Given the description of an element on the screen output the (x, y) to click on. 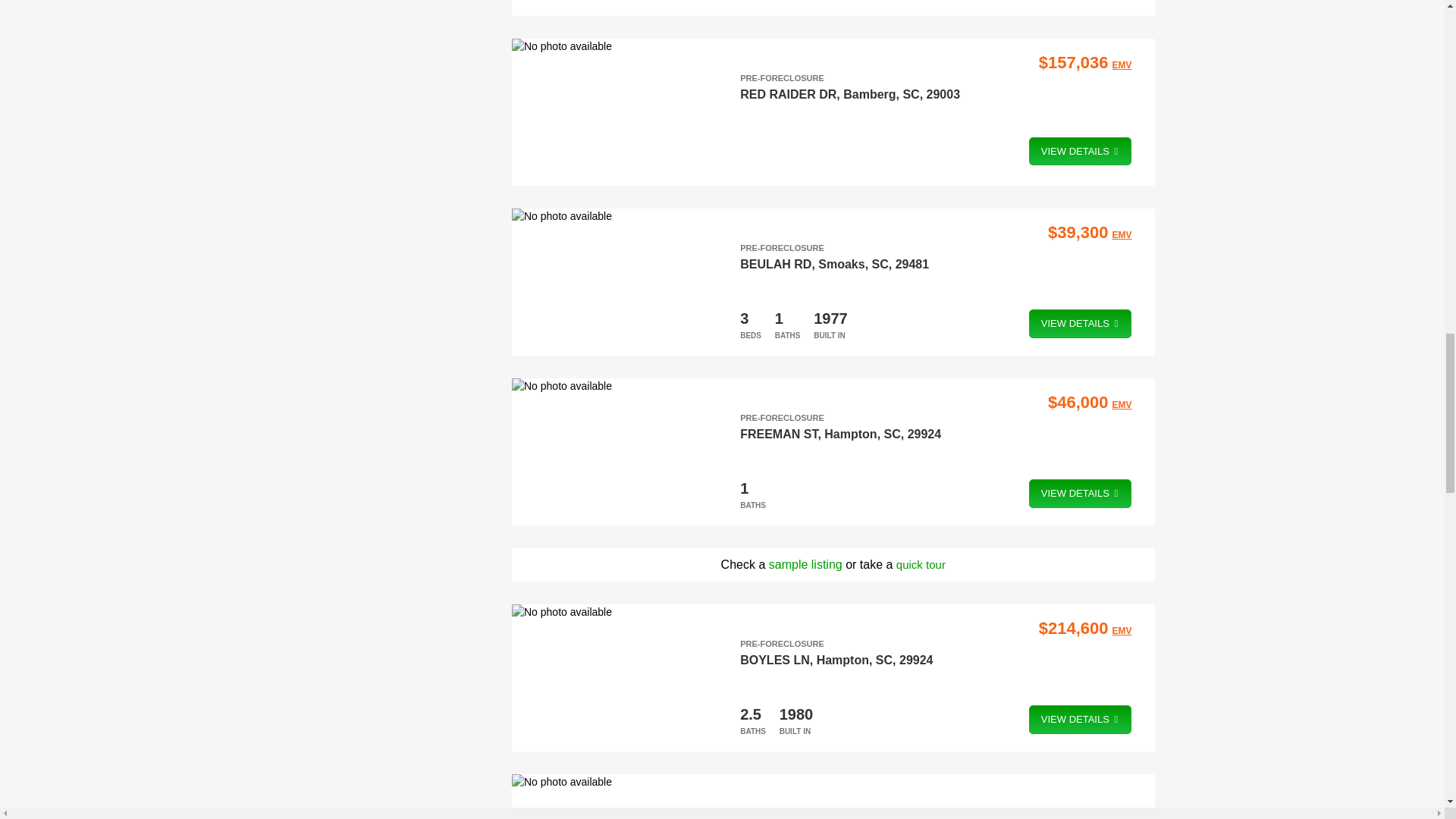
Sample Listing (805, 563)
RED RAIDER DR (787, 93)
VIEW DETAILS (1080, 150)
